Given the description of an element on the screen output the (x, y) to click on. 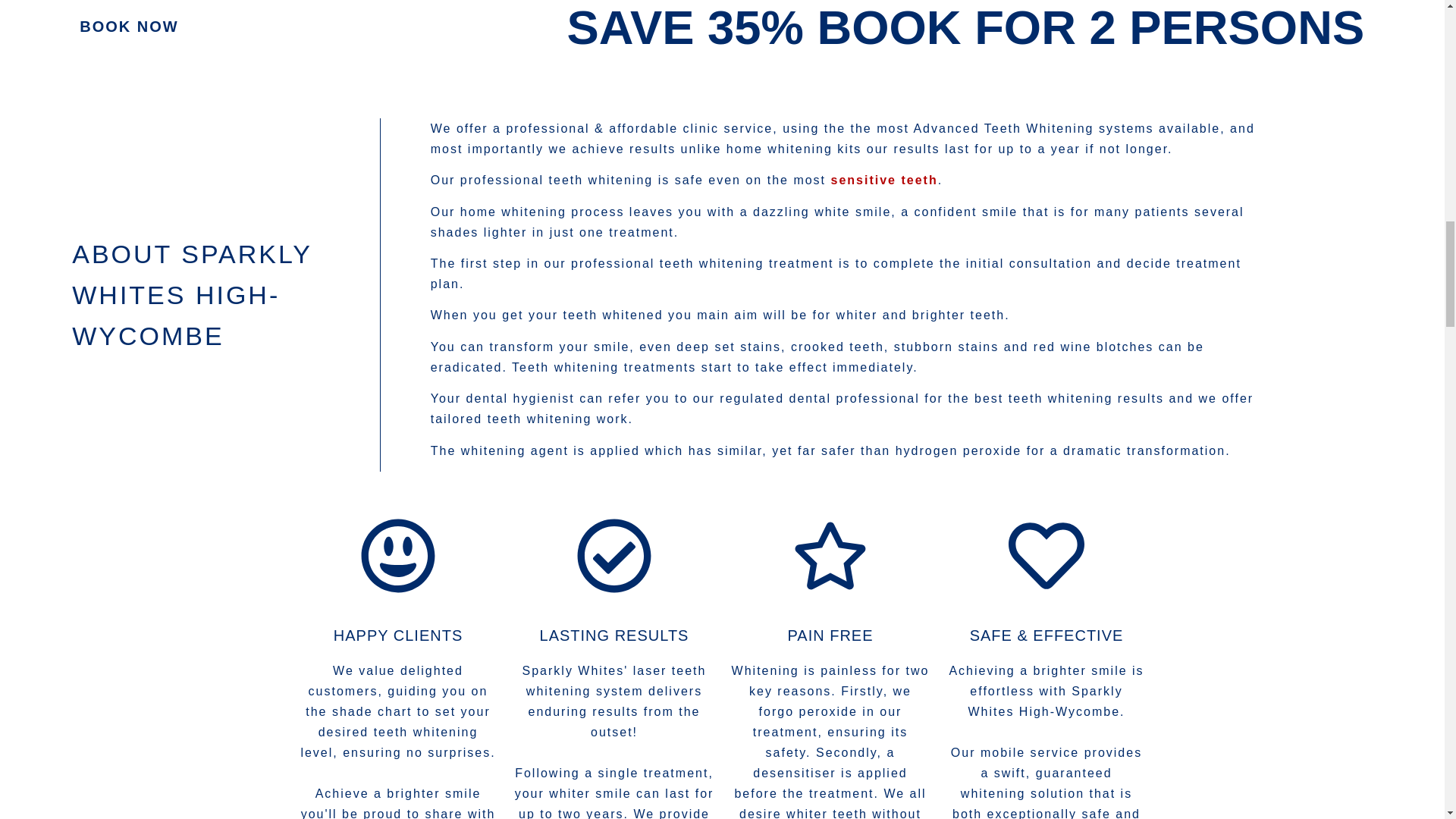
BOOK NOW (128, 26)
sensitive teeth (884, 179)
sensitive teeth (884, 179)
